Given the description of an element on the screen output the (x, y) to click on. 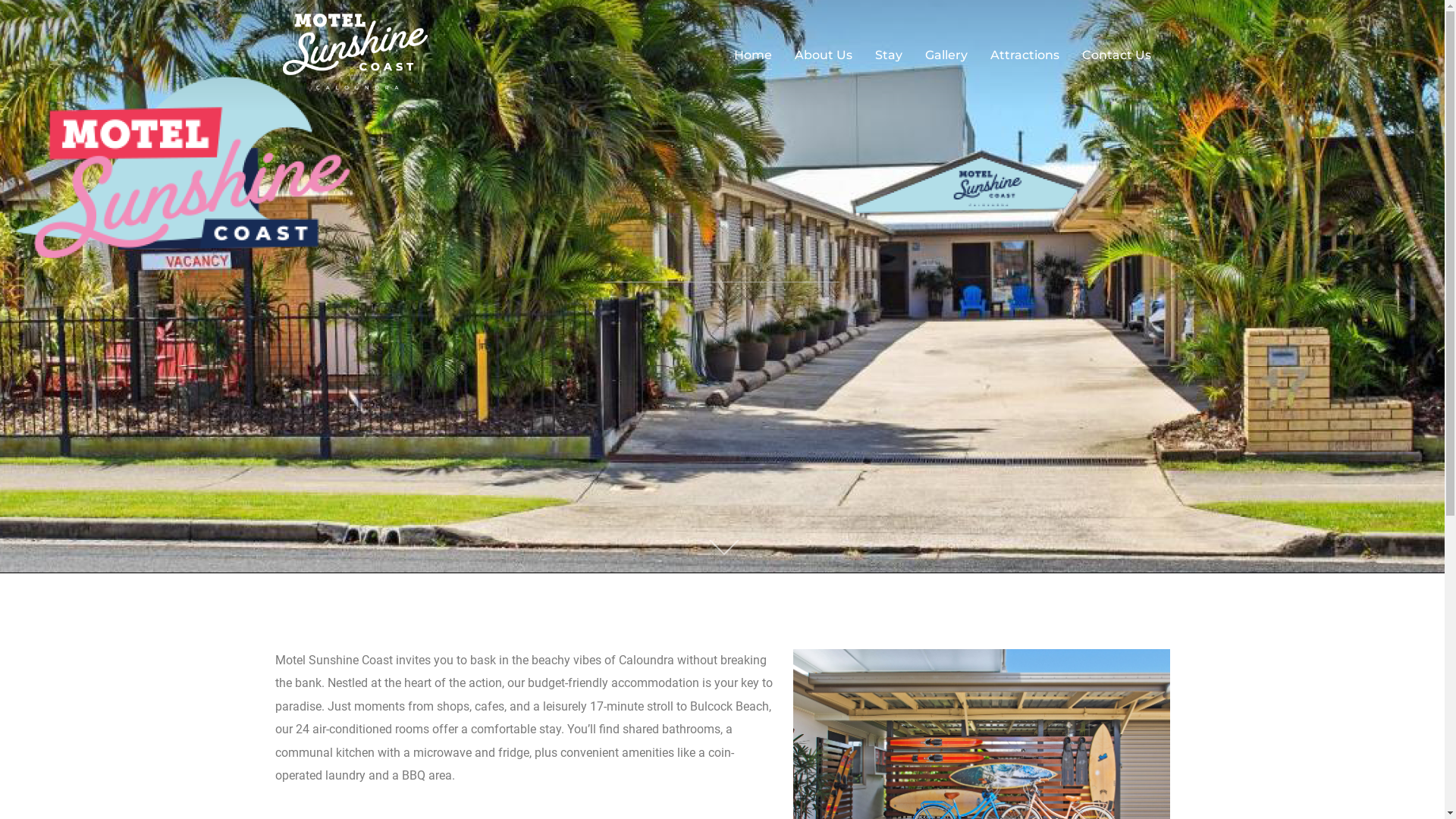
Scroll down to content Element type: hover (721, 548)
Attractions Element type: text (1024, 54)
Home Element type: text (752, 54)
Contact Us Element type: text (1115, 54)
Stay Element type: text (888, 54)
About Us Element type: text (823, 54)
Gallery Element type: text (946, 54)
